Given the description of an element on the screen output the (x, y) to click on. 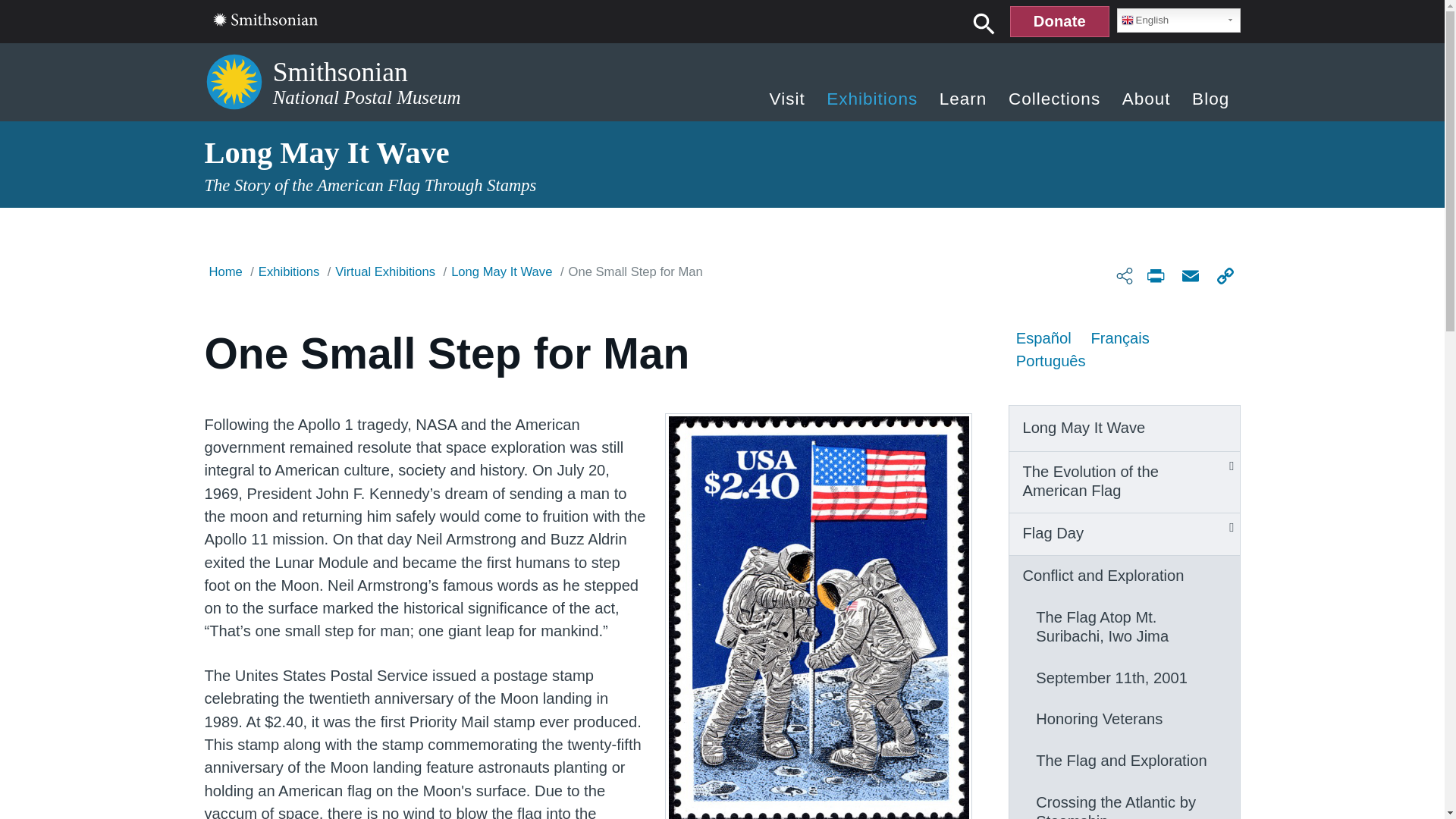
English (1178, 20)
Search (984, 23)
Donate (1059, 21)
